Given the description of an element on the screen output the (x, y) to click on. 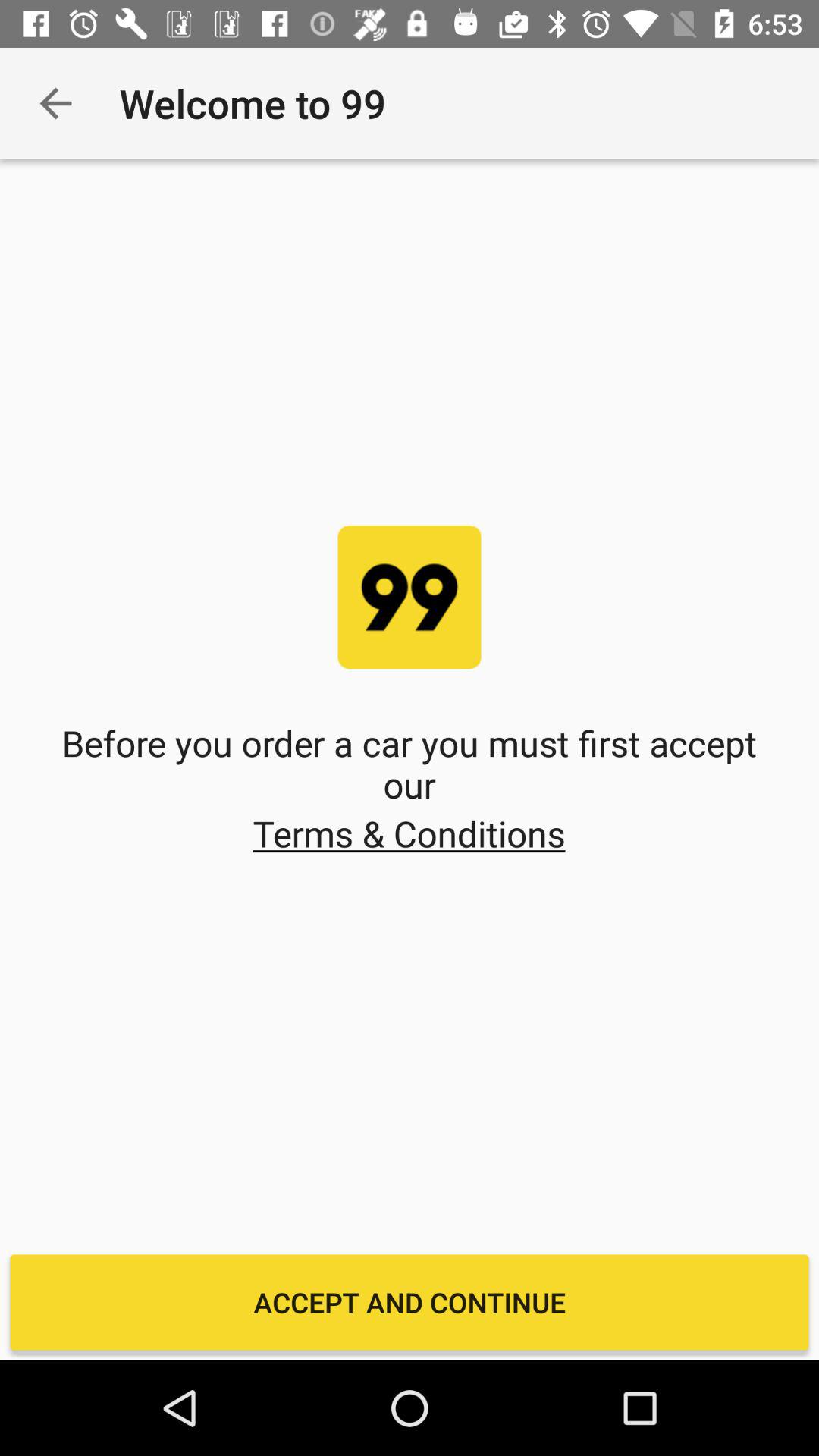
turn off terms & conditions item (409, 833)
